Given the description of an element on the screen output the (x, y) to click on. 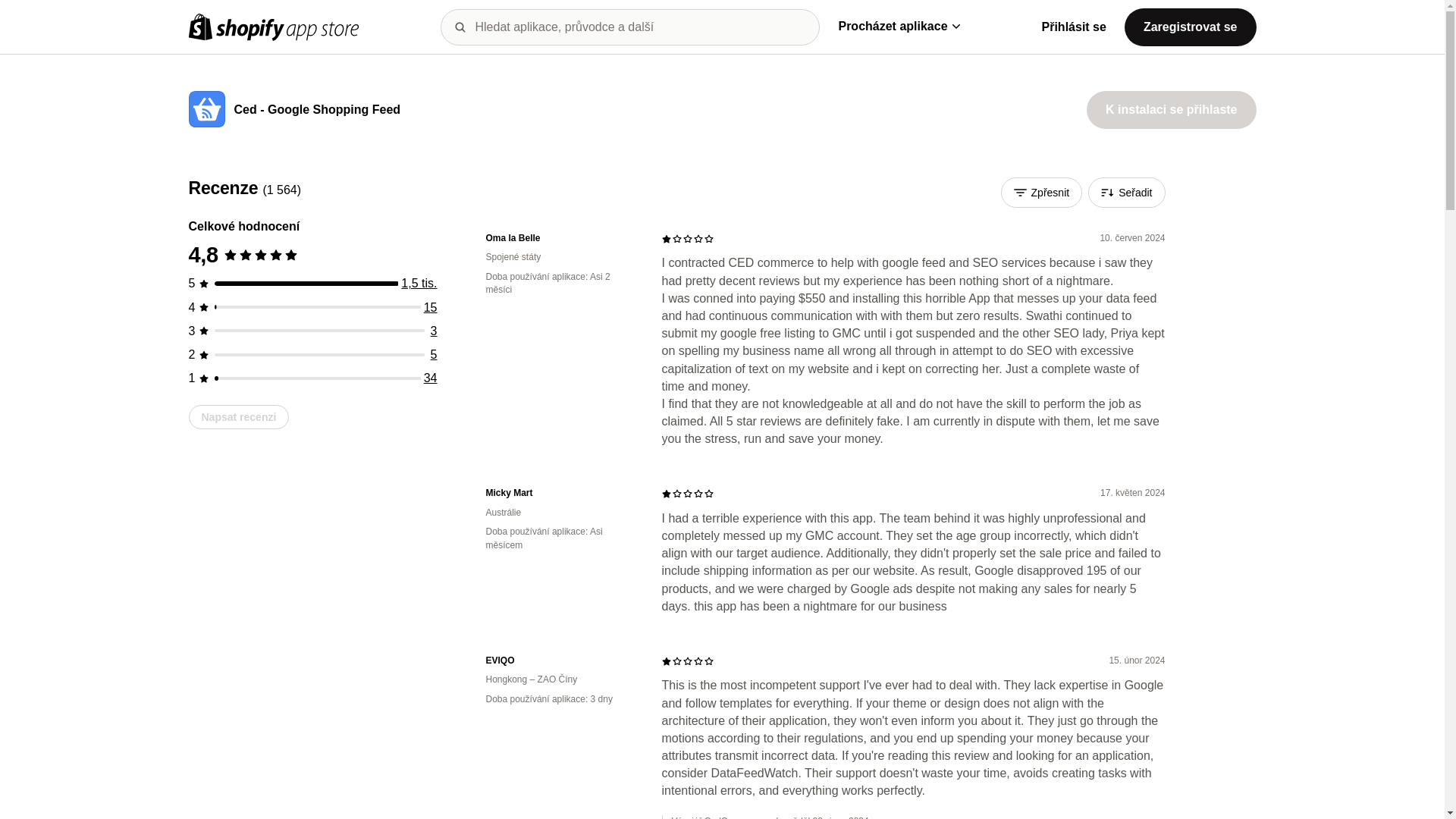
Zaregistrovat se (1190, 26)
Micky Mart (560, 492)
Oma la Belle (560, 237)
34 (430, 377)
15 (430, 307)
EVIQO (560, 660)
1,5 tis. (418, 282)
Napsat recenzi (237, 416)
